Given the description of an element on the screen output the (x, y) to click on. 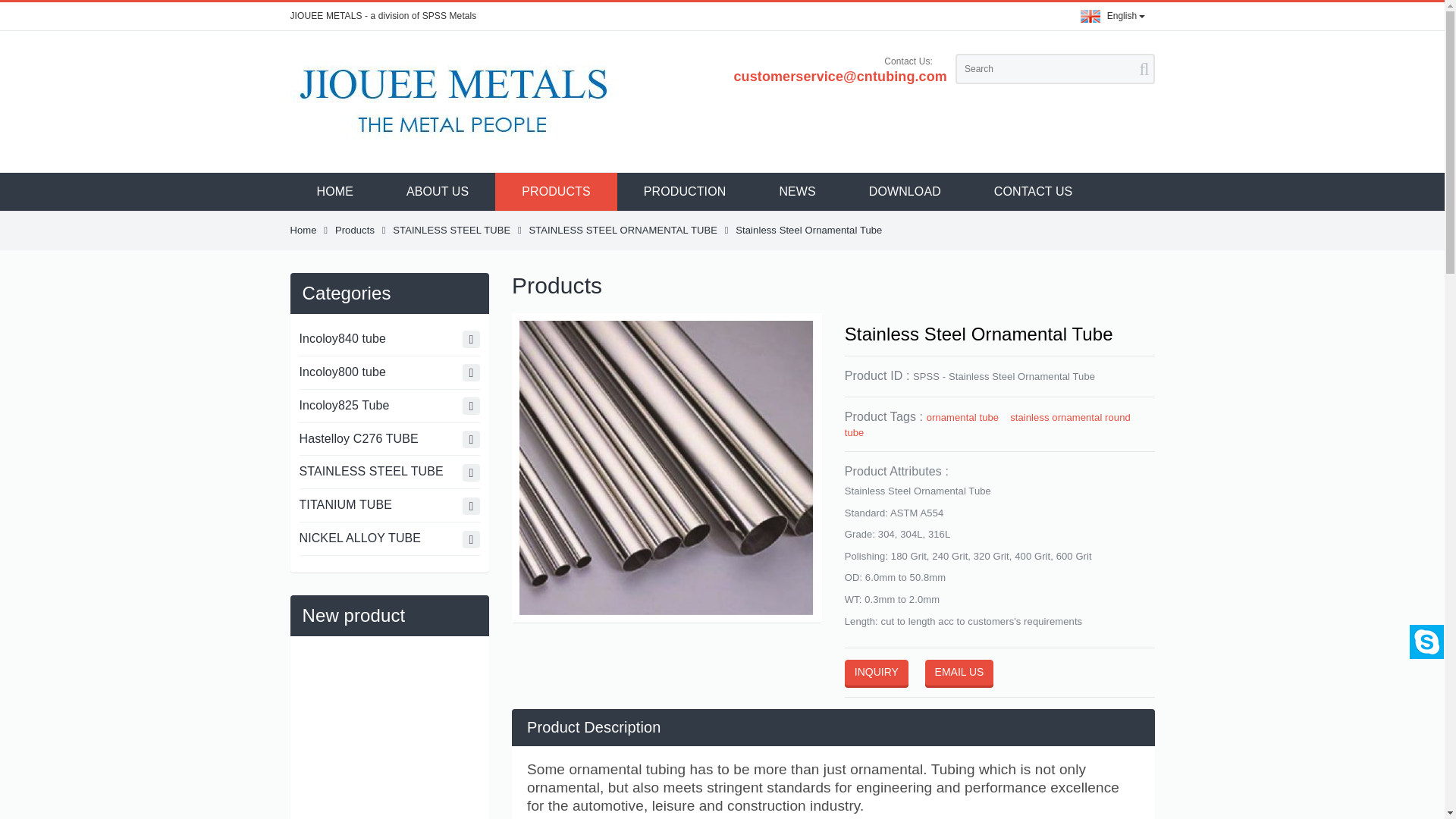
Incoloy800 tube (389, 372)
CONTACT US (1033, 191)
ABOUT US (437, 191)
Incoloy825 Tube (389, 406)
PRODUCTS (556, 191)
Hastelloy C276 TUBE (389, 439)
STAINLESS STEEL TUBE (389, 471)
STAINLESS STEEL ORNAMENTAL TUBE (623, 229)
HOME (333, 191)
PRODUCTION (684, 191)
